Given the description of an element on the screen output the (x, y) to click on. 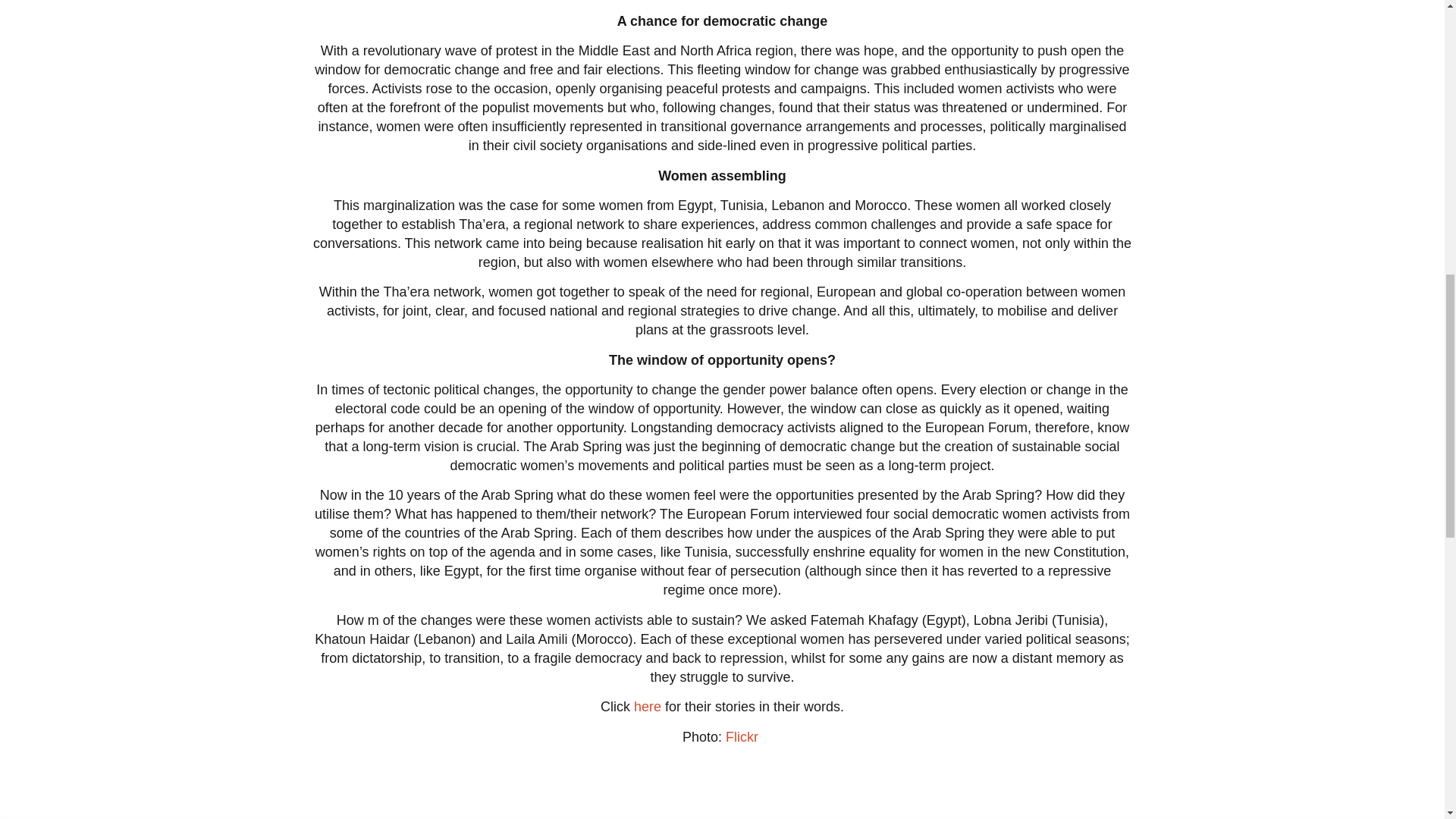
here (647, 706)
Flickr (741, 736)
